Given the description of an element on the screen output the (x, y) to click on. 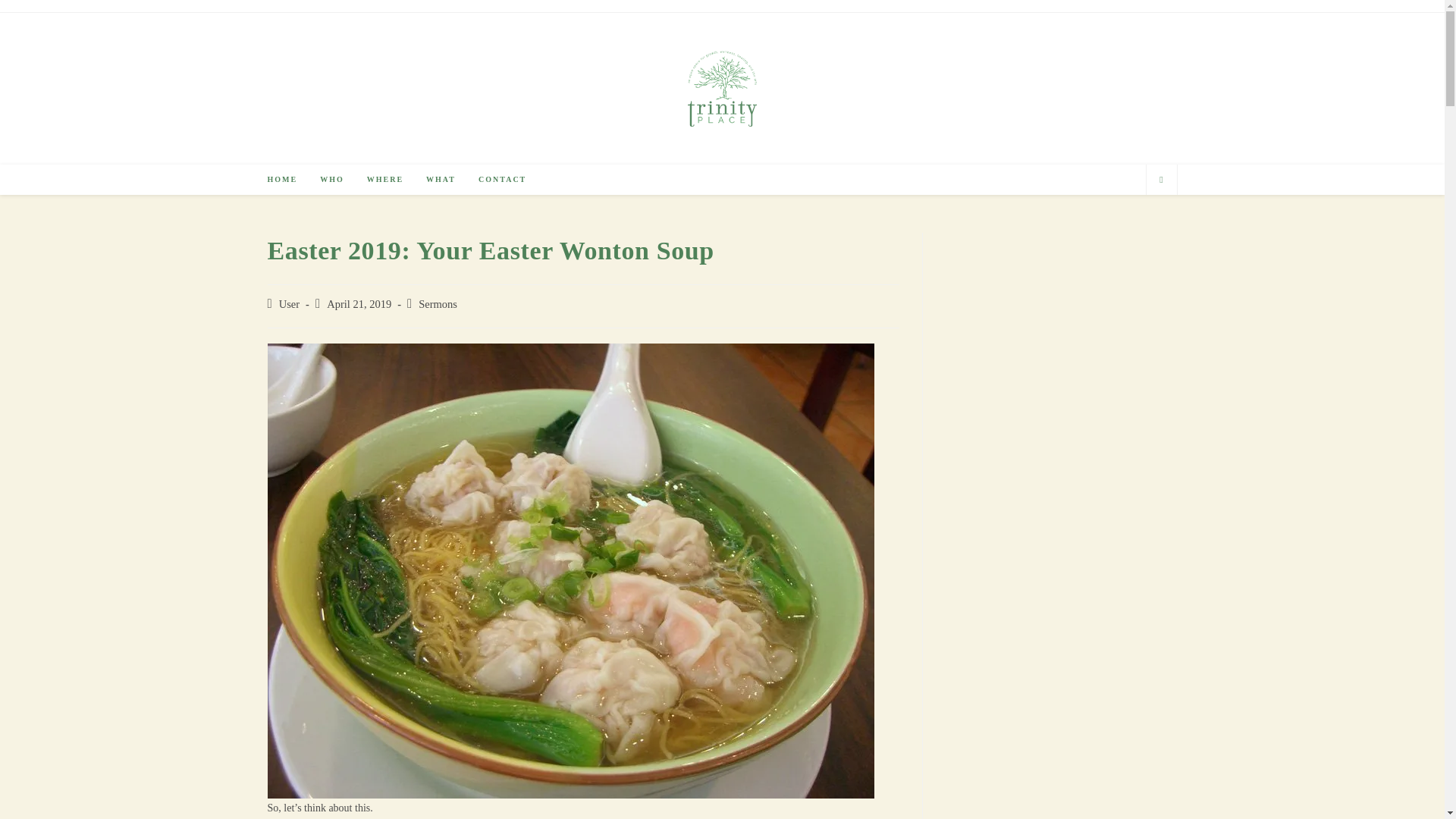
WHO (331, 179)
User (289, 304)
HOME (282, 179)
WHAT (440, 179)
CONTACT (502, 179)
WHERE (384, 179)
Posts by User (289, 304)
